Given the description of an element on the screen output the (x, y) to click on. 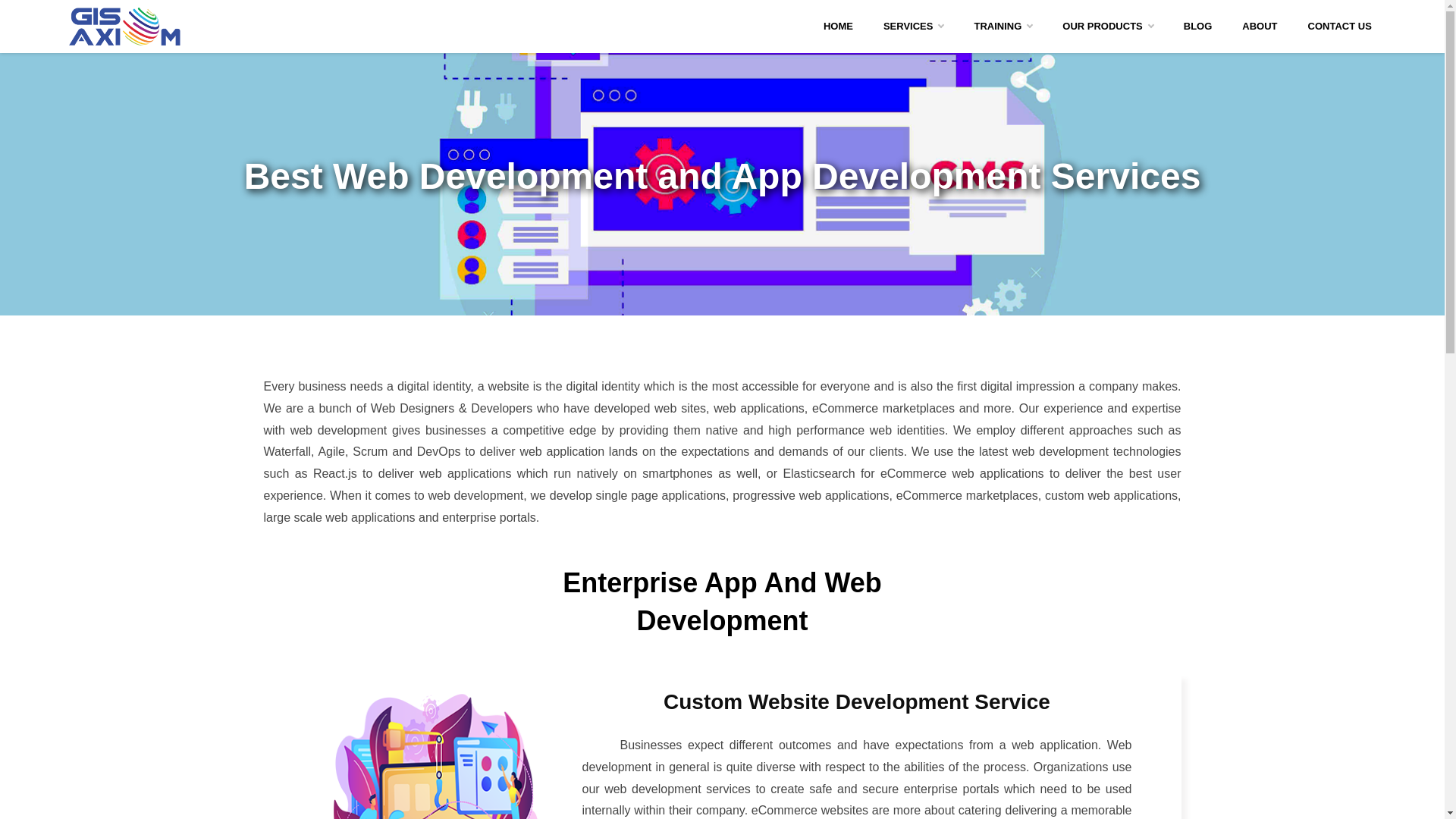
TRAINING (1002, 26)
HOME (837, 5)
OUR PRODUCTS (1106, 26)
SERVICES (913, 6)
CONTACT US (1339, 26)
BLOG (1198, 26)
ABOUT (1259, 26)
